Given the description of an element on the screen output the (x, y) to click on. 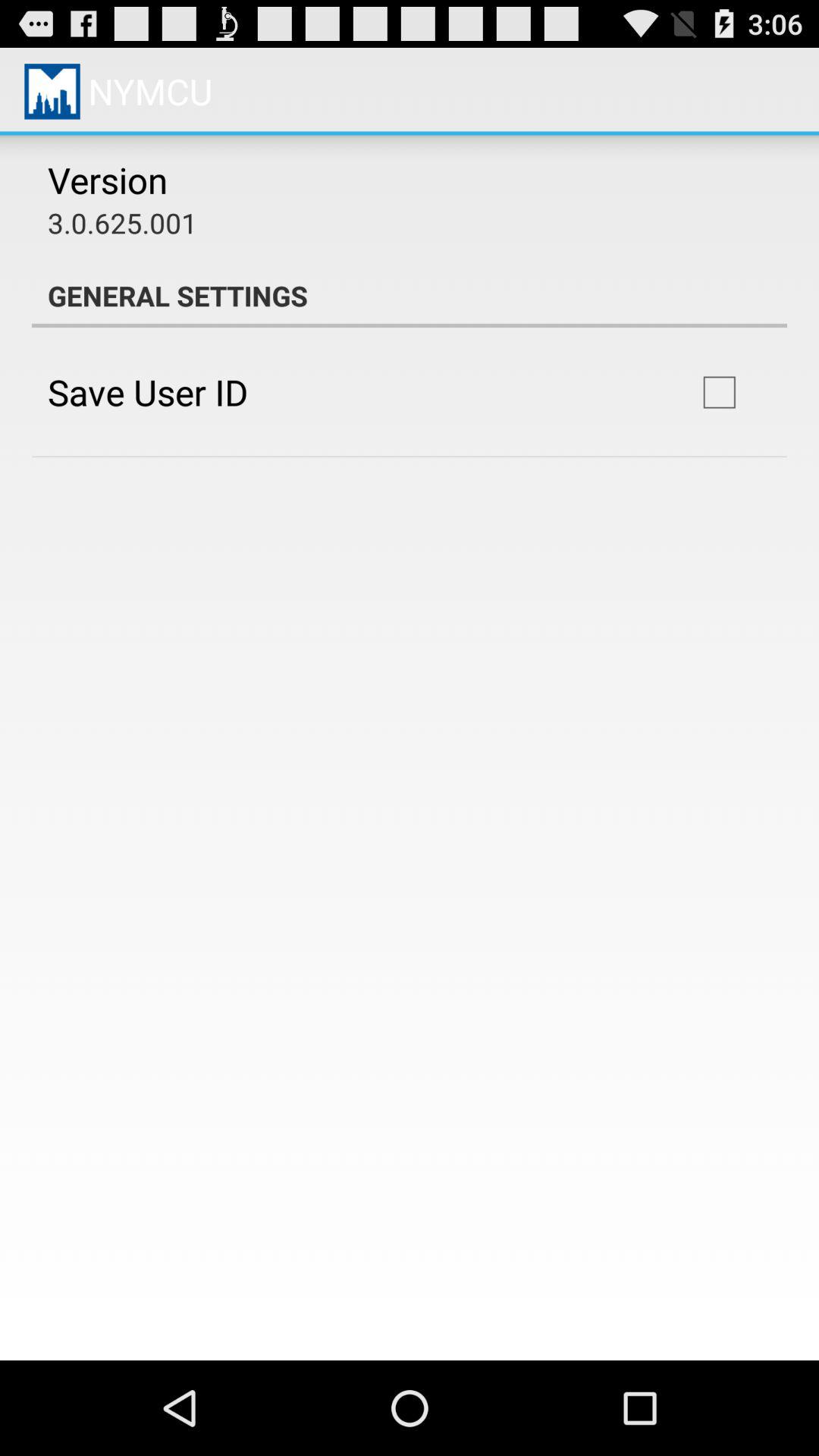
open checkbox at the top right corner (719, 392)
